Given the description of an element on the screen output the (x, y) to click on. 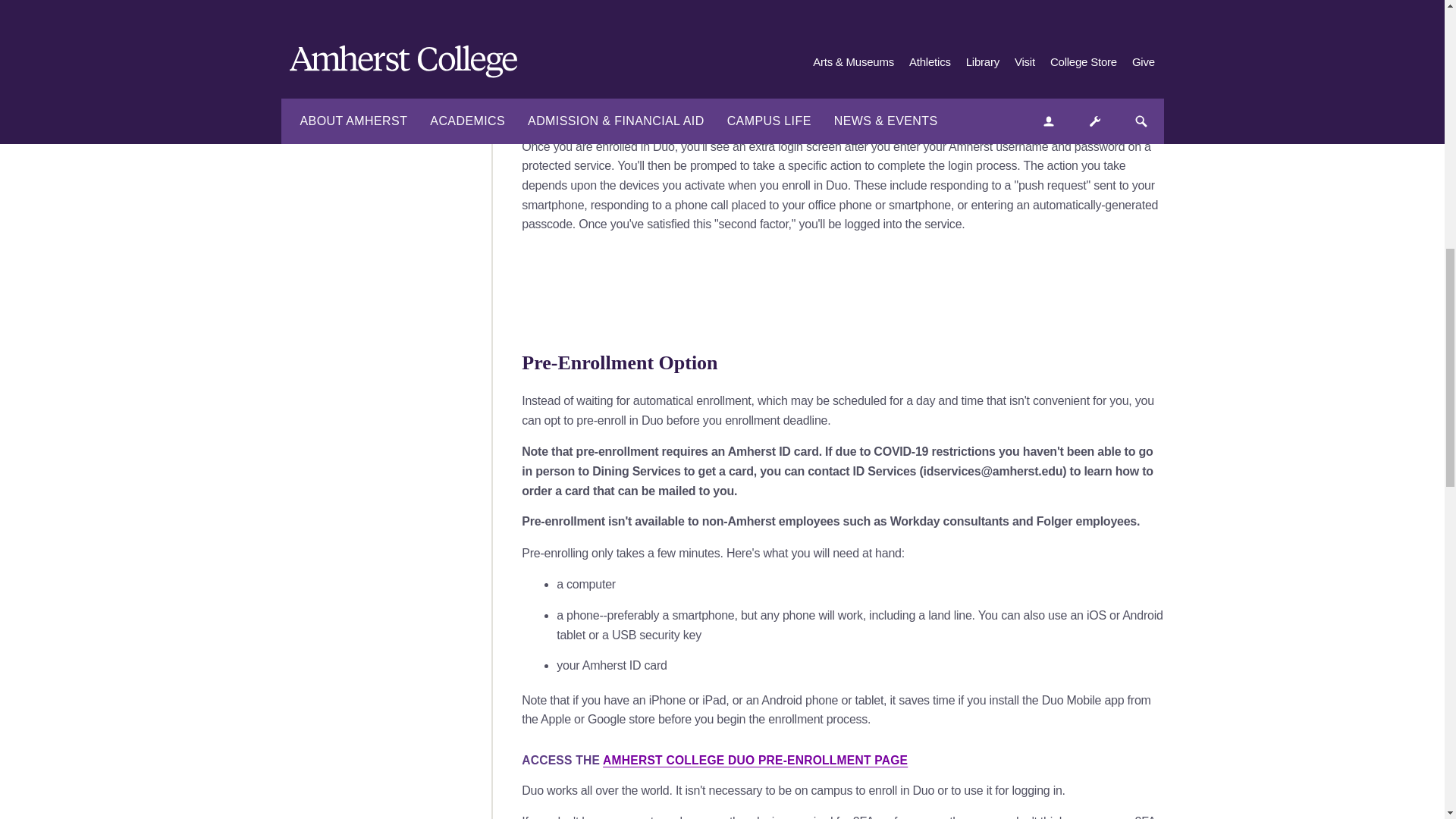
External Video (558, 284)
